Given the description of an element on the screen output the (x, y) to click on. 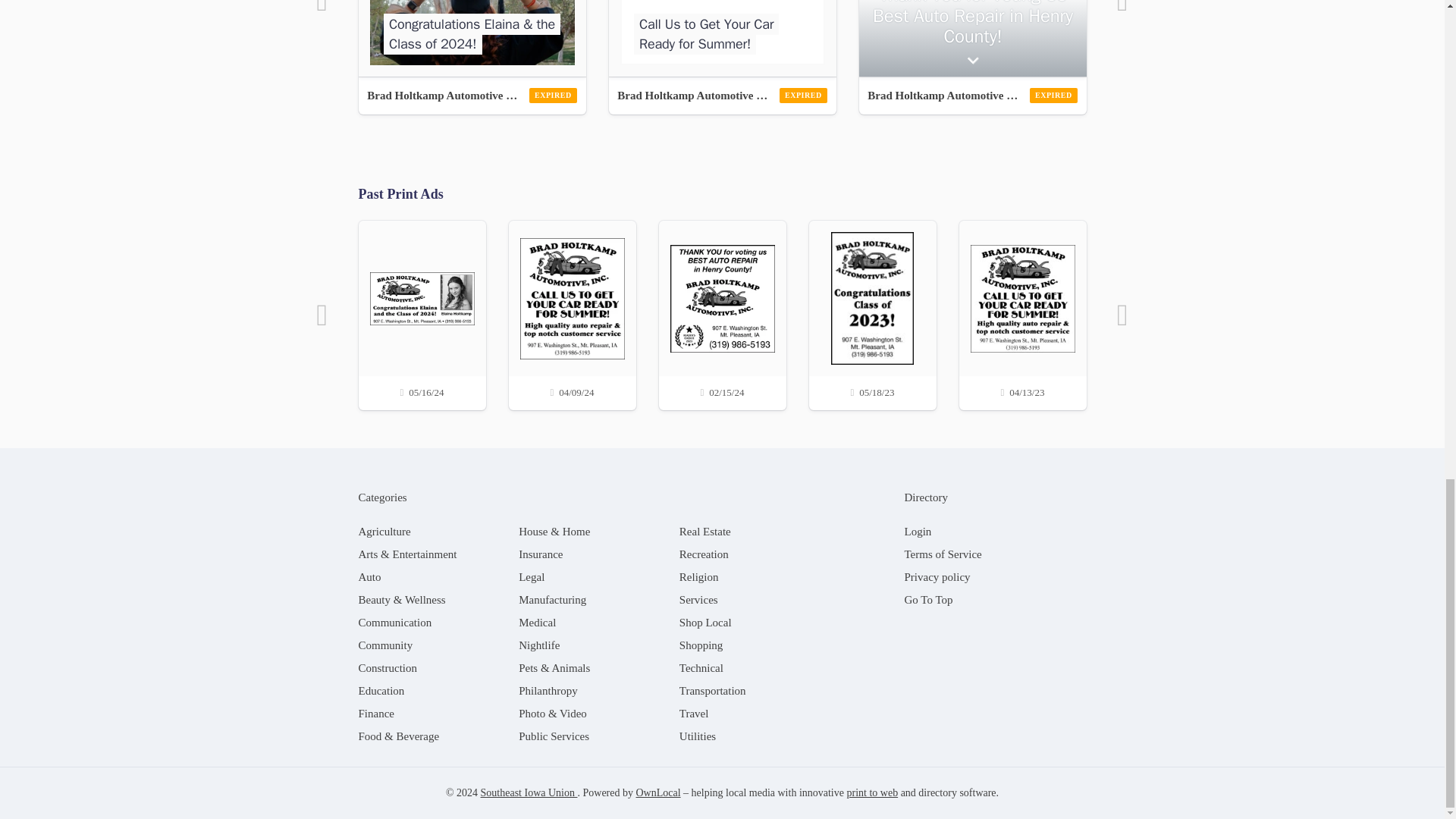
Brad Holtkamp Automotive Inc (721, 95)
Brad Holtkamp Automotive Inc (471, 95)
Brad Holtkamp Automotive Inc (972, 95)
Origami Widget Number: 1955260 (721, 38)
Origami Widget Number: 1933110 (972, 38)
Origami Widget Number: 1975159 (471, 38)
